Given the description of an element on the screen output the (x, y) to click on. 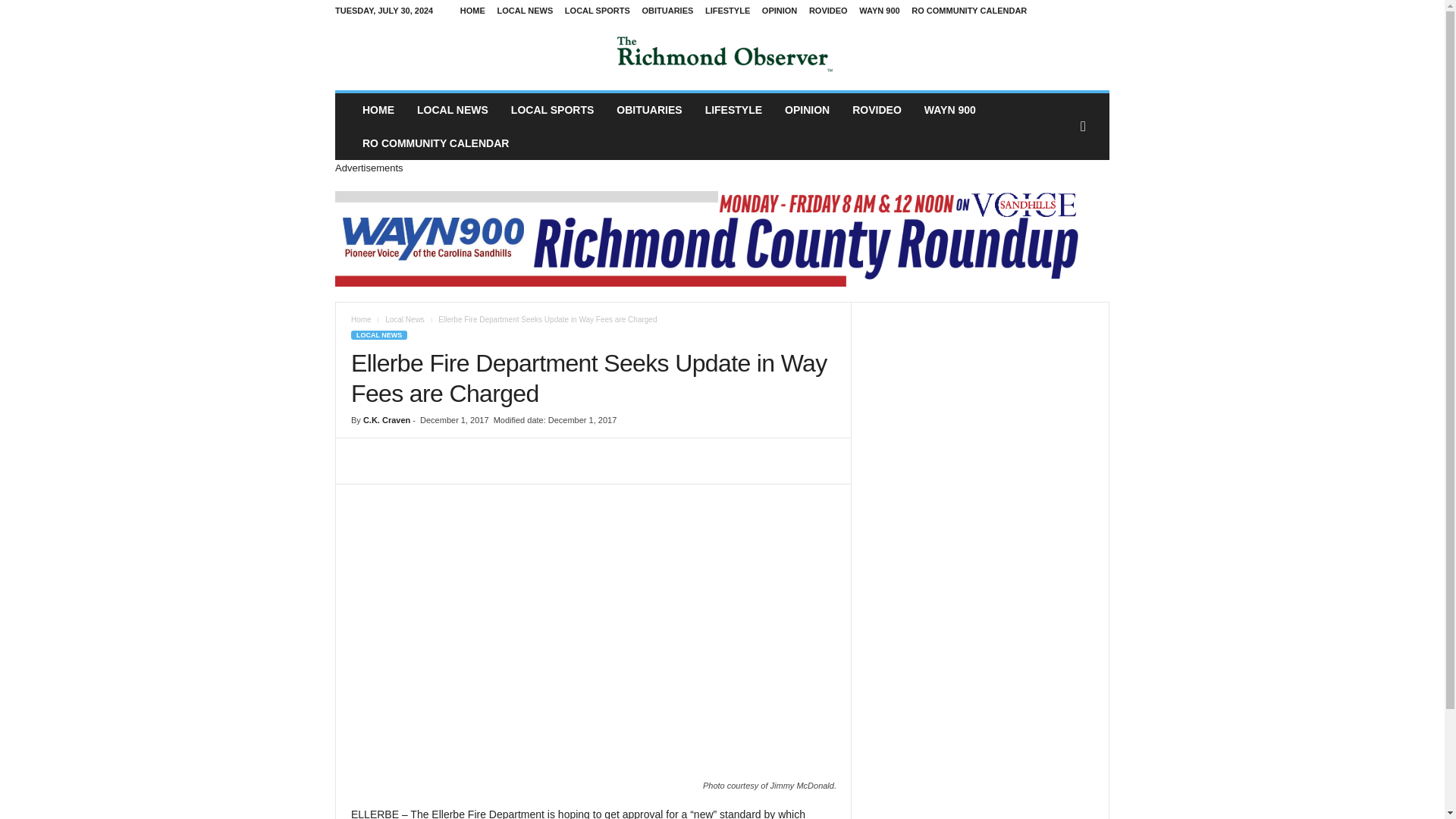
The Richmond Observer (721, 56)
OPINION (778, 10)
LOCAL NEWS (524, 10)
OPINION (807, 109)
HOME (472, 10)
LOCAL SPORTS (552, 109)
LIFESTYLE (726, 10)
LOCAL SPORTS (597, 10)
LOCAL NEWS (452, 109)
OBITUARIES (667, 10)
HOME (378, 109)
RO COMMUNITY CALENDAR (968, 10)
RO COMMUNITY CALENDAR (434, 142)
WAYN 900 (879, 10)
ROVIDEO (876, 109)
